Given the description of an element on the screen output the (x, y) to click on. 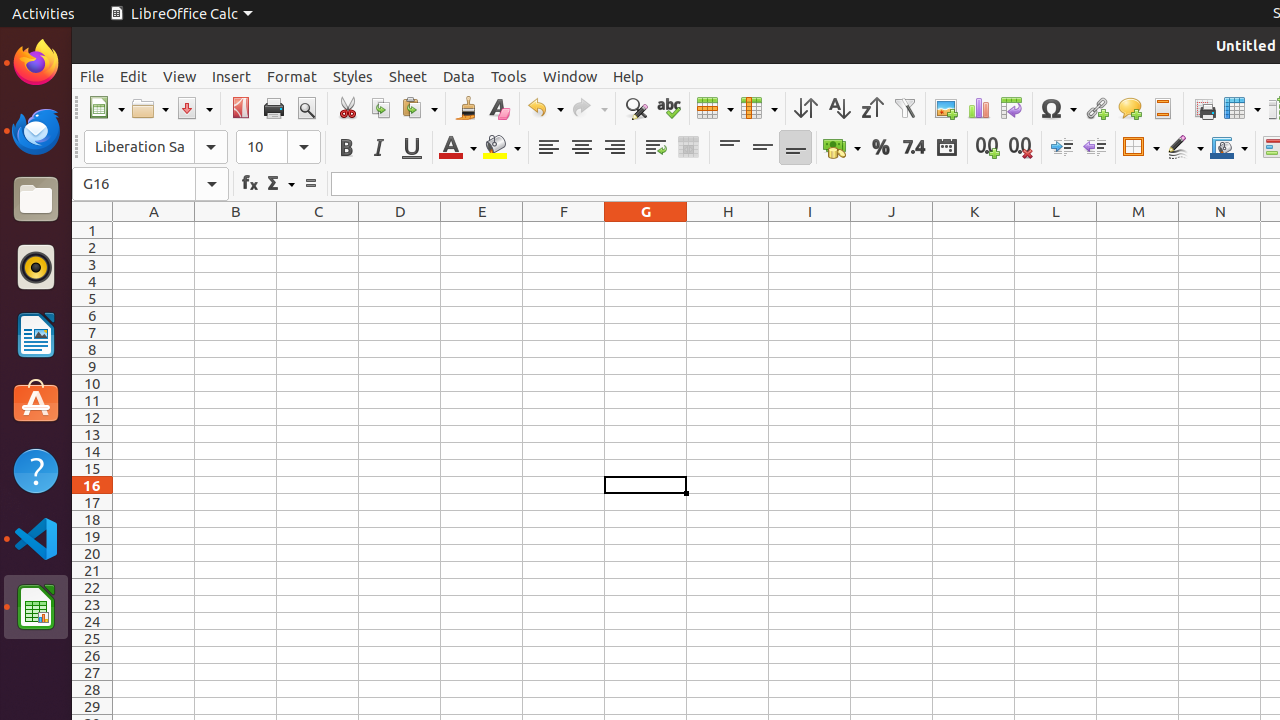
L1 Element type: table-cell (1056, 230)
M1 Element type: table-cell (1138, 230)
Underline Element type: push-button (411, 147)
D1 Element type: table-cell (400, 230)
